Given the description of an element on the screen output the (x, y) to click on. 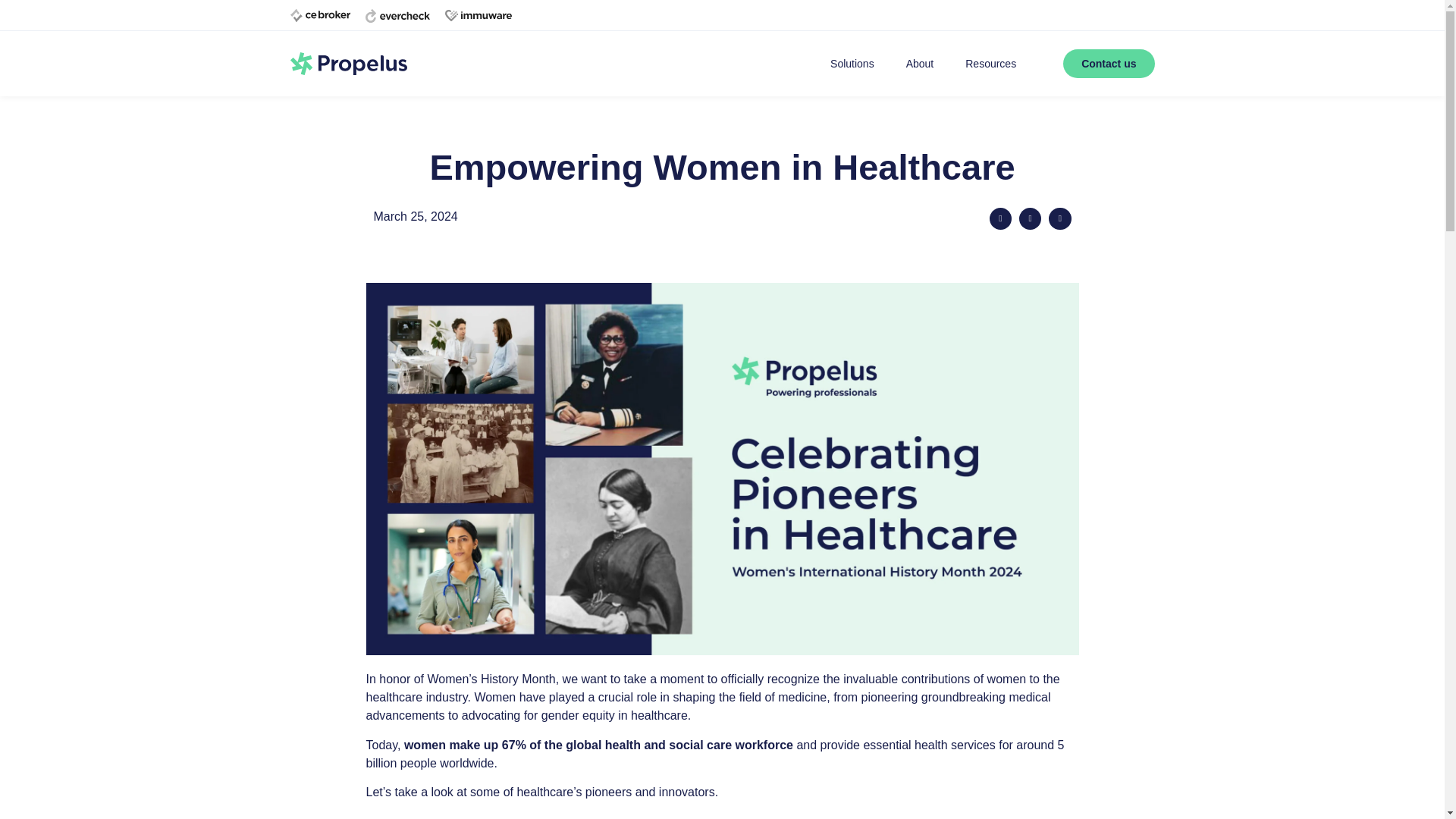
Contact us (1108, 63)
Solutions (852, 63)
Resources (990, 63)
